Given the description of an element on the screen output the (x, y) to click on. 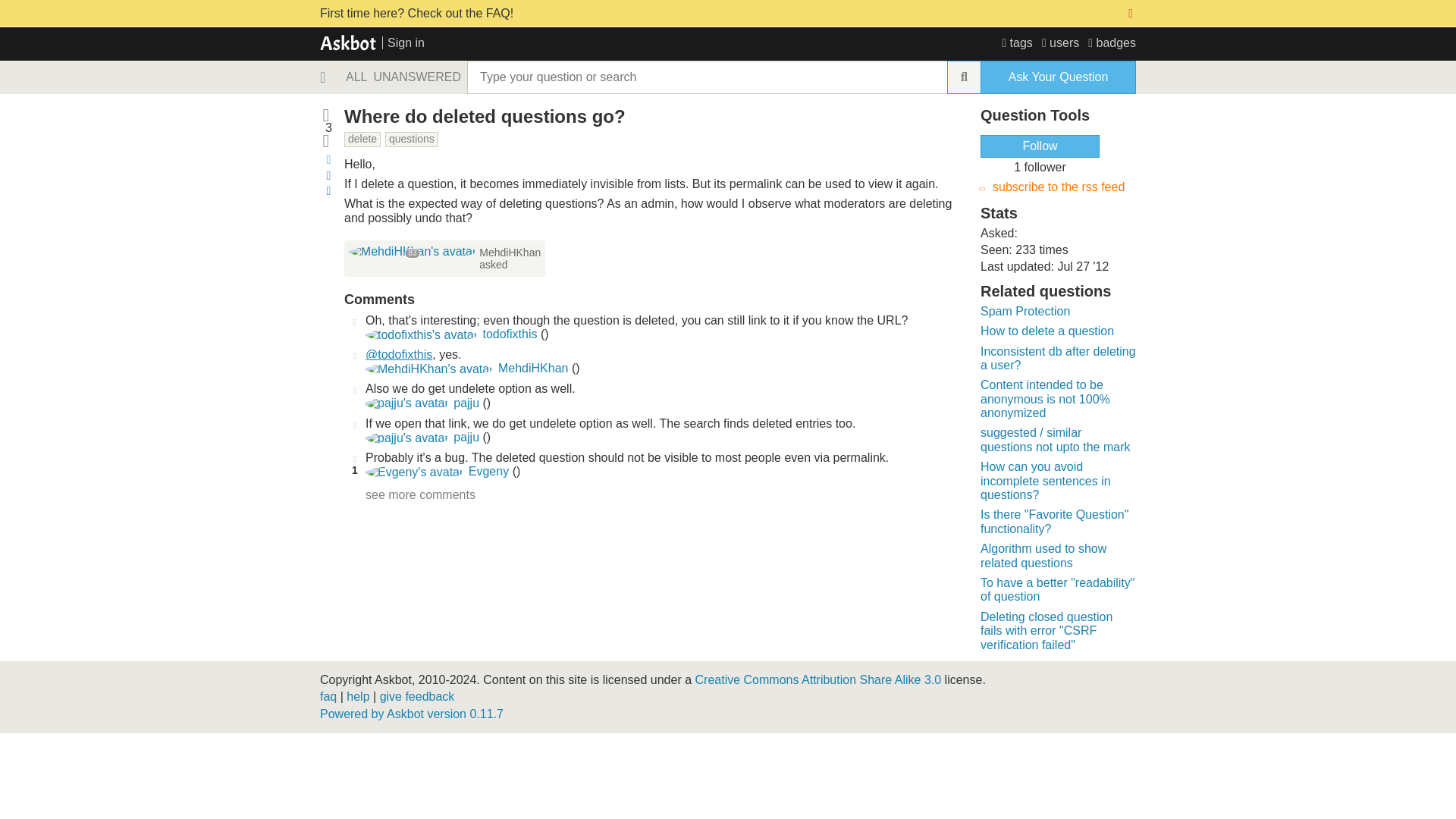
pajju (406, 438)
Inconsistent db after deleting a user? (1057, 357)
83 (412, 250)
MehdiHKhan (412, 251)
users (1060, 42)
MehdiHKhan (533, 367)
badges (1111, 42)
Ask Your Question (1057, 77)
Sign in (403, 42)
Spam Protection (1024, 310)
